Given the description of an element on the screen output the (x, y) to click on. 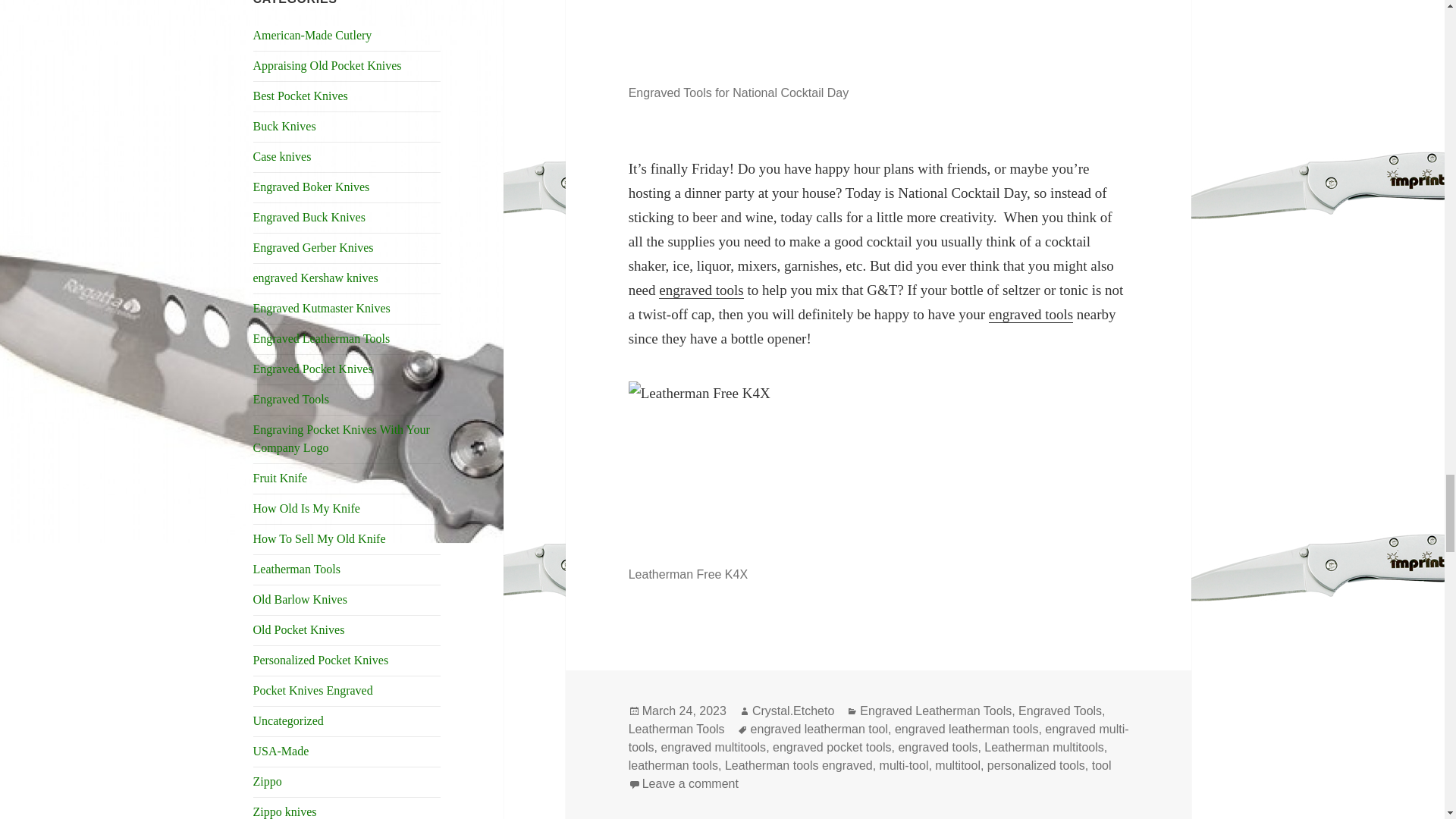
How can I find the age of my Barlow knife? (300, 599)
How do I find the age of my old pocket knife? (306, 508)
All about old pocket knives (299, 629)
What is the best Leatherman tool for me? (296, 568)
I have an old knife I'd like to sell. How do I do it? (319, 538)
